Given the description of an element on the screen output the (x, y) to click on. 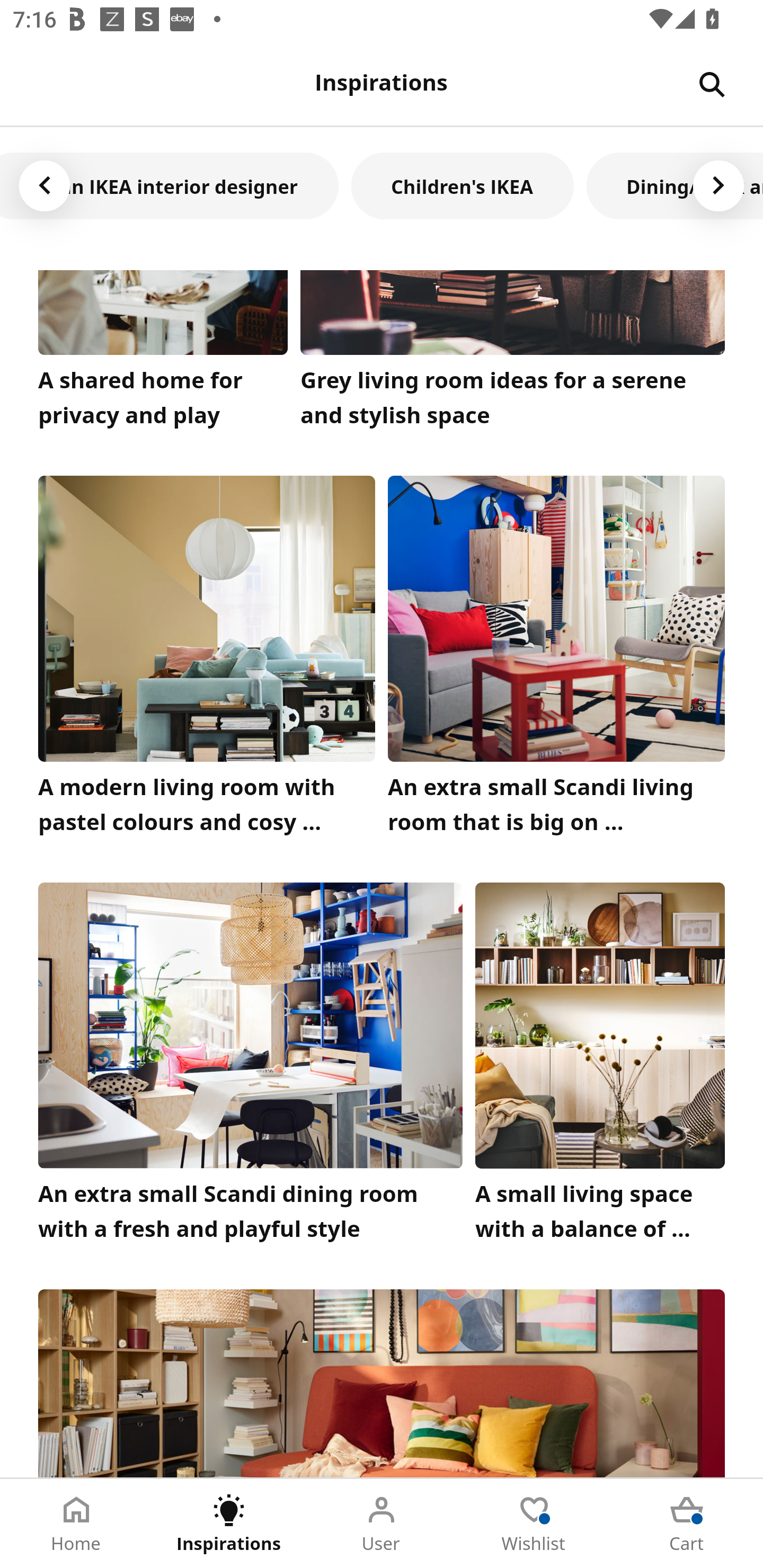
Children's IKEA (461, 185)
A shared home for privacy and play (162, 353)
A modern living room with an element of suprise (381, 1382)
Home
Tab 1 of 5 (76, 1522)
Inspirations
Tab 2 of 5 (228, 1522)
User
Tab 3 of 5 (381, 1522)
Wishlist
Tab 4 of 5 (533, 1522)
Cart
Tab 5 of 5 (686, 1522)
